Given the description of an element on the screen output the (x, y) to click on. 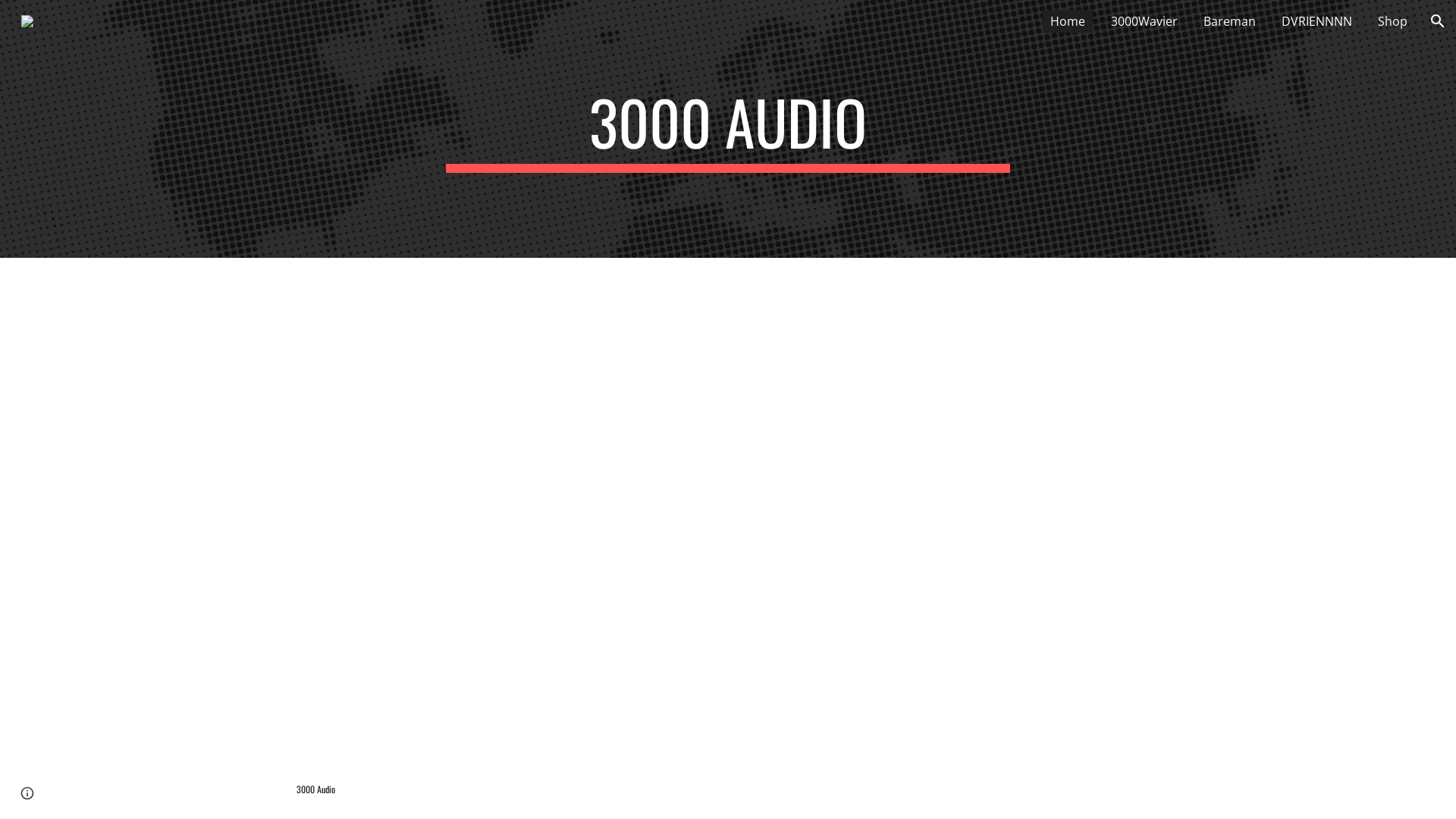
3000Wavier Element type: text (1144, 20)
Bareman Element type: text (1229, 20)
DVRIENNNN Element type: text (1316, 20)
Home Element type: text (1067, 20)
Shop Element type: text (1392, 20)
